Given the description of an element on the screen output the (x, y) to click on. 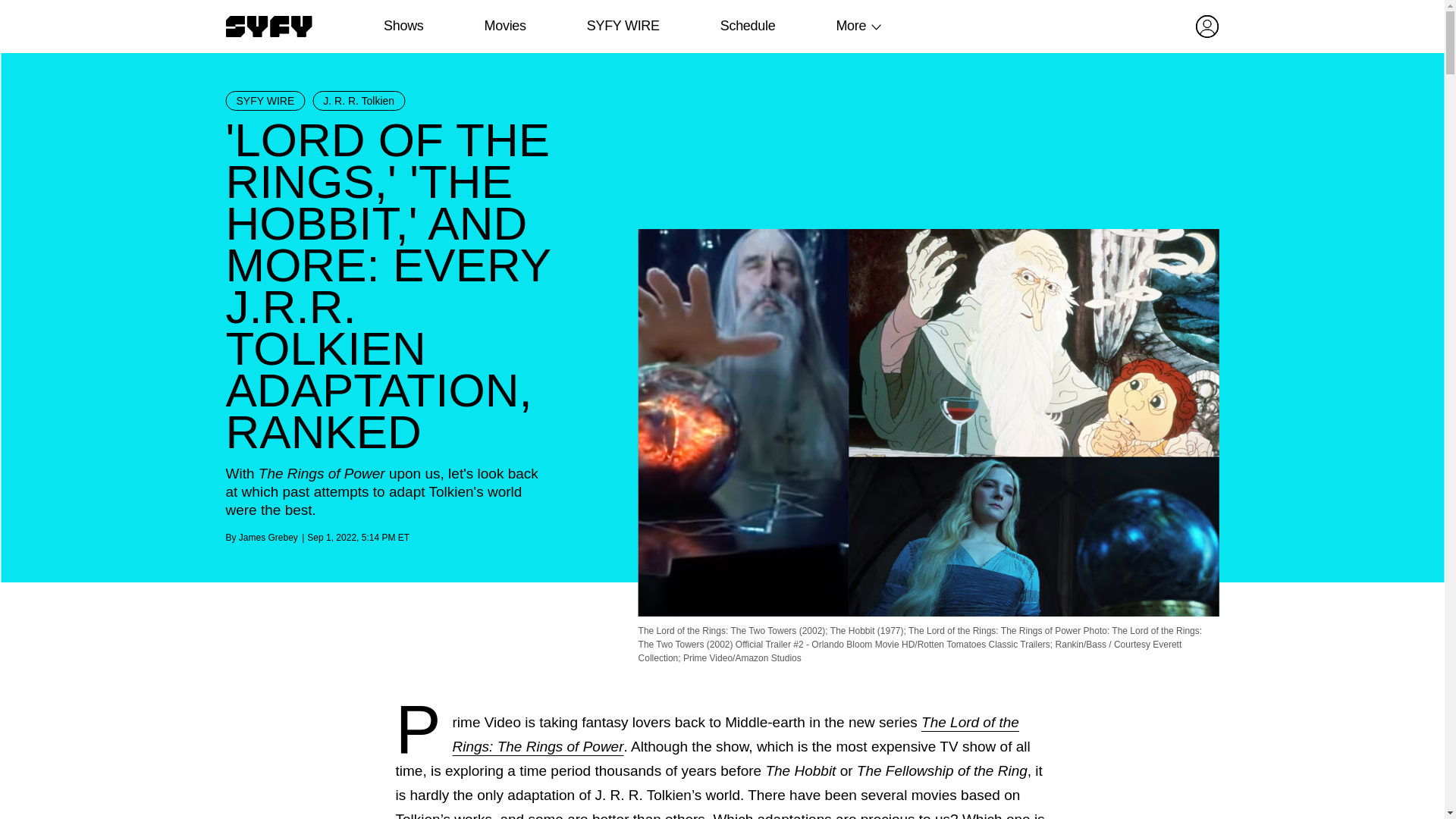
SYFY WIRE (265, 100)
James Grebey (268, 537)
Schedule (746, 26)
Shows (403, 26)
J. R. R. Tolkien (358, 100)
More (850, 26)
The Lord of the Rings: The Rings of Power (735, 734)
Movies (504, 26)
SYFY WIRE (622, 26)
